Given the description of an element on the screen output the (x, y) to click on. 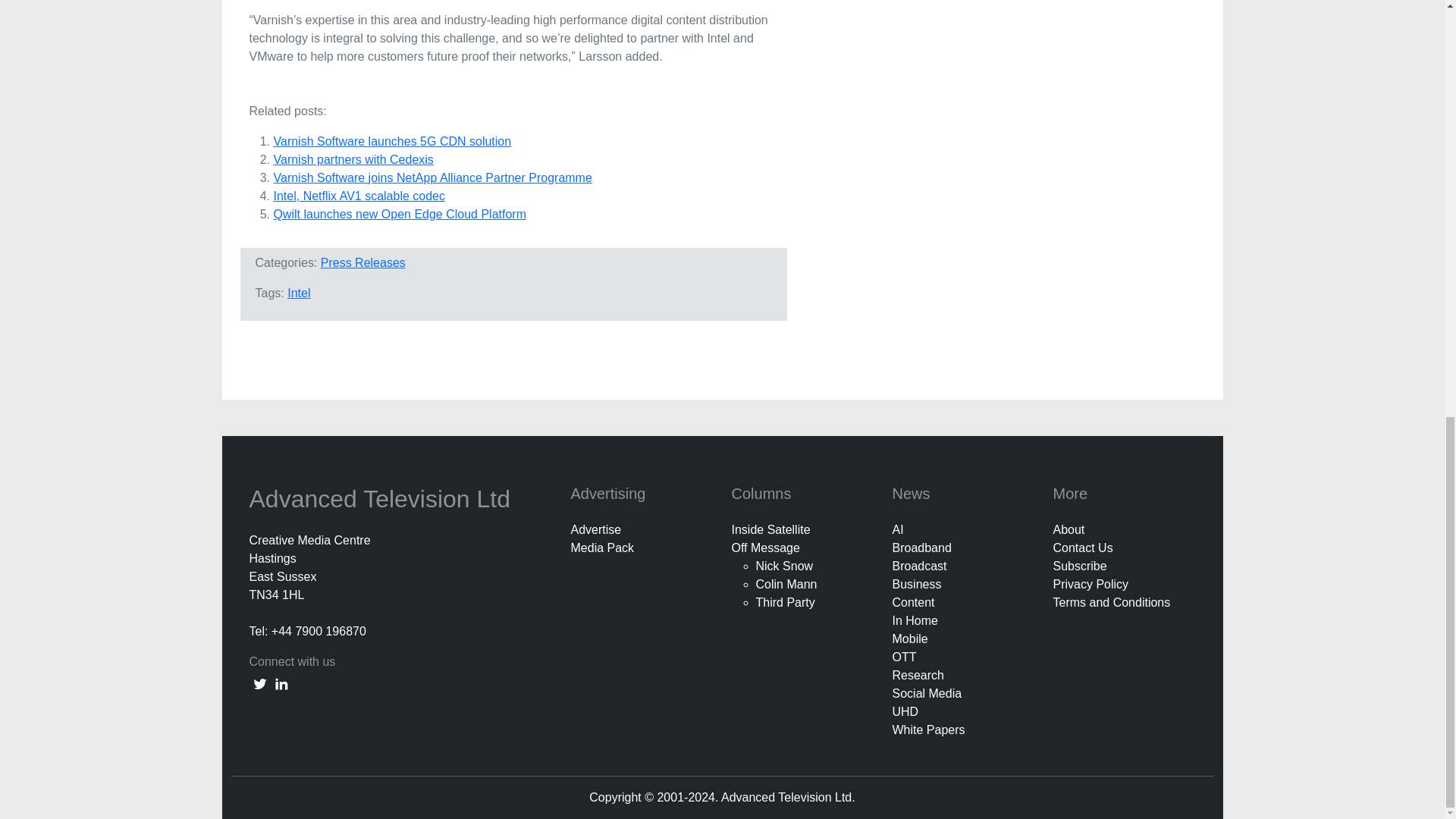
Varnish Software joins NetApp Alliance Partner Programme (432, 177)
Varnish partners with Cedexis (352, 159)
Varnish partners with Cedexis (352, 159)
Varnish Software launches 5G CDN solution (392, 141)
Advertise (595, 529)
Qwilt launches new Open Edge Cloud Platform (399, 214)
Intel, Netflix AV1 scalable codec (359, 195)
Varnish Software joins NetApp Alliance Partner Programme (432, 177)
Off Message (764, 547)
Intel (298, 292)
Advanced Television Ltd  (382, 498)
Inside Satellite (769, 529)
Media Pack (601, 547)
Qwilt launches new Open Edge Cloud Platform (399, 214)
Varnish Software launches 5G CDN solution (392, 141)
